Given the description of an element on the screen output the (x, y) to click on. 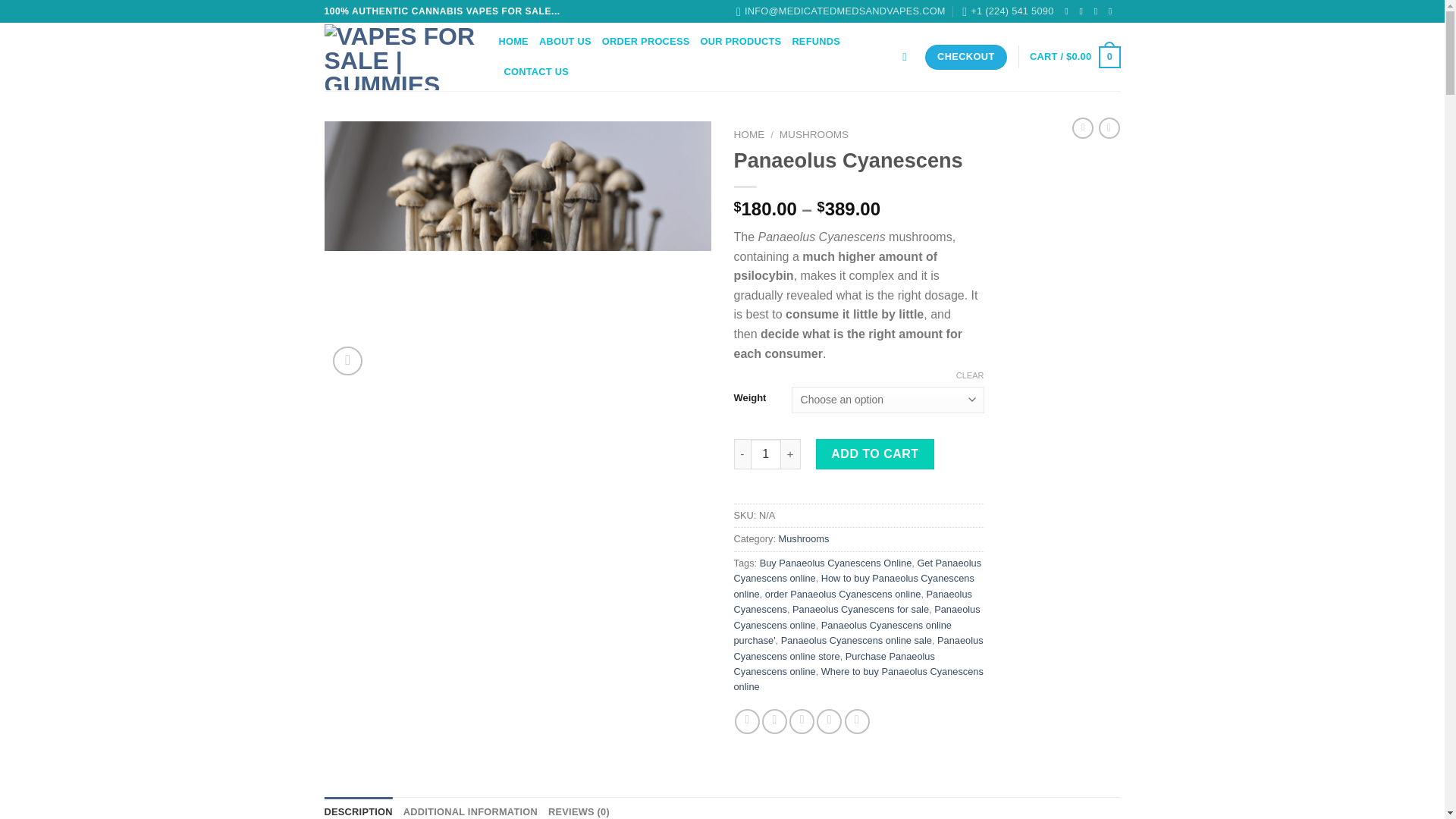
CLEAR (970, 375)
order Panaeolus Cyanescens online (843, 593)
MUSHROOMS (813, 134)
1 (765, 453)
ORDER PROCESS (646, 41)
Cart (1074, 57)
ADD TO CART (874, 453)
Mushrooms (803, 538)
How to buy Panaeolus Cyanescens online (853, 585)
HOME (513, 41)
Buy Panaeolus Cyanescens Online (836, 562)
OUR PRODUCTS (740, 41)
Qty (765, 453)
HOME (749, 134)
REFUNDS (816, 41)
